Given the description of an element on the screen output the (x, y) to click on. 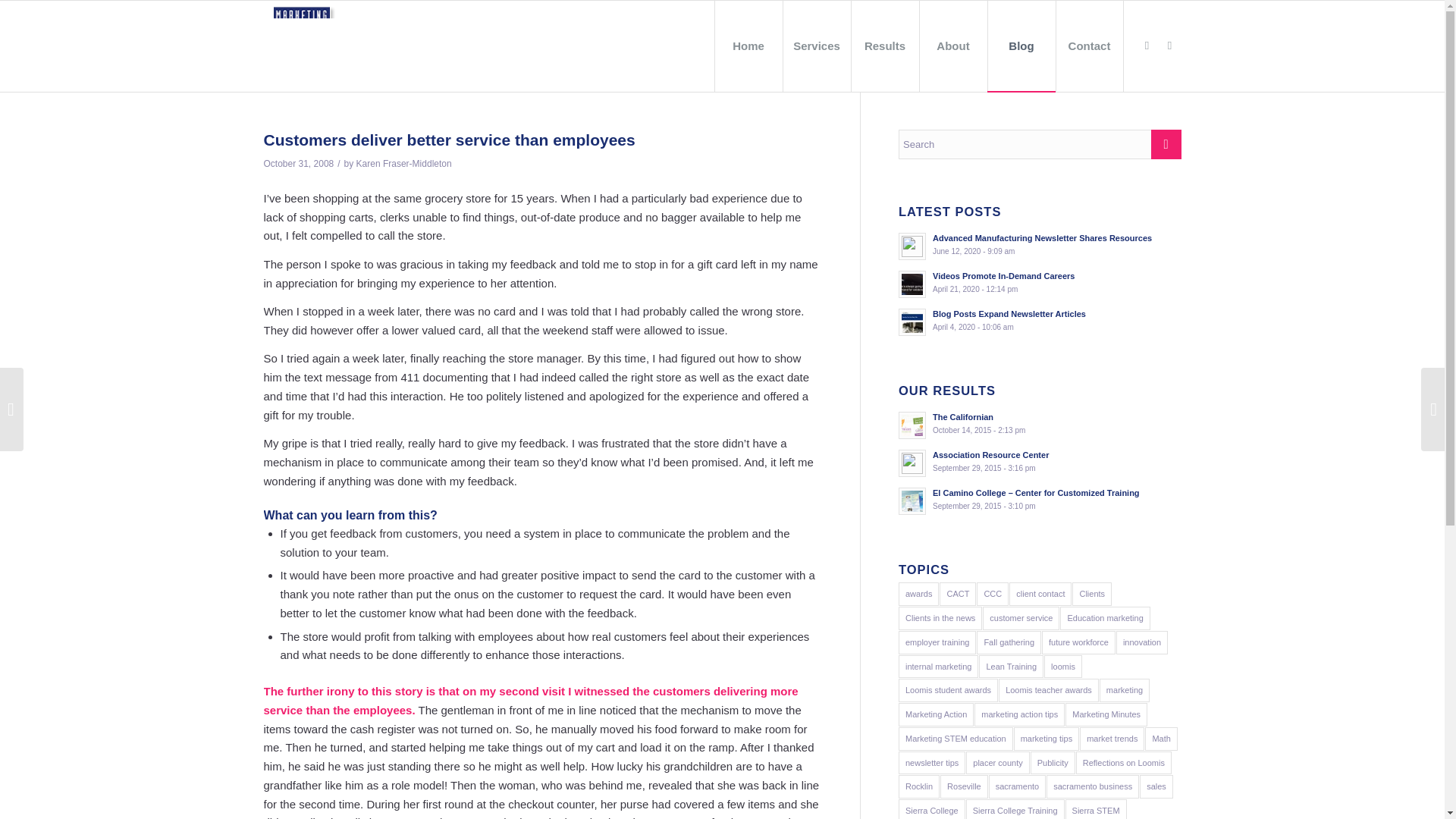
awards (918, 594)
Posts by Karen Fraser-Middleton (403, 163)
Karen Fraser-Middleton (403, 163)
Twitter (1039, 282)
Linkedin (1146, 45)
CACT (1169, 45)
Customers deliver better service than employees (957, 594)
